Given the description of an element on the screen output the (x, y) to click on. 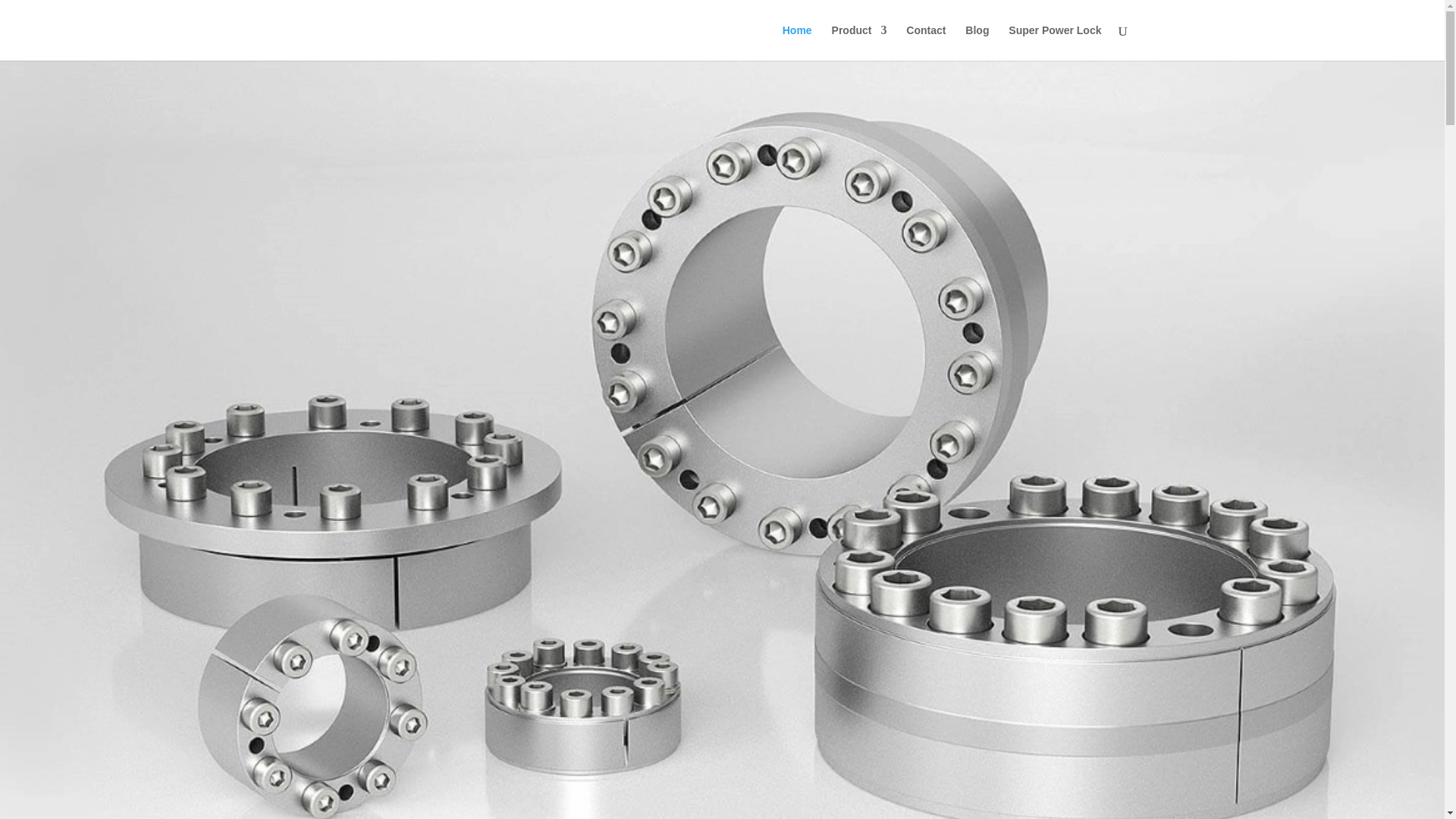
Product (858, 42)
Super Power Lock (1054, 42)
Contact (924, 42)
